Given the description of an element on the screen output the (x, y) to click on. 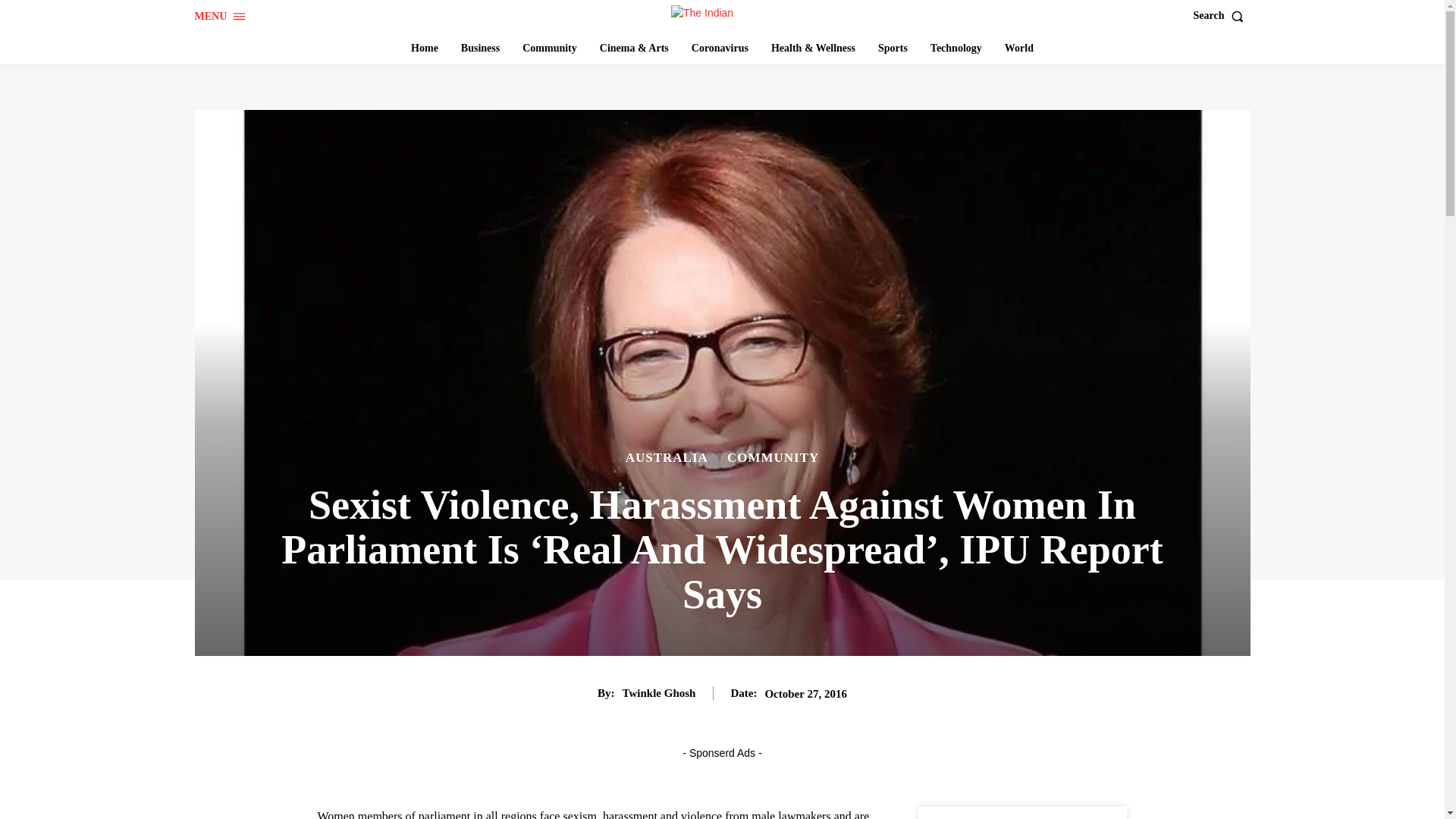
The Indian Telegraph (724, 13)
Home (424, 48)
Search (1221, 15)
Sports (892, 48)
Coronavirus (719, 48)
World (1019, 48)
Technology (956, 48)
Community (550, 48)
MENU (219, 16)
Business (479, 48)
